Given the description of an element on the screen output the (x, y) to click on. 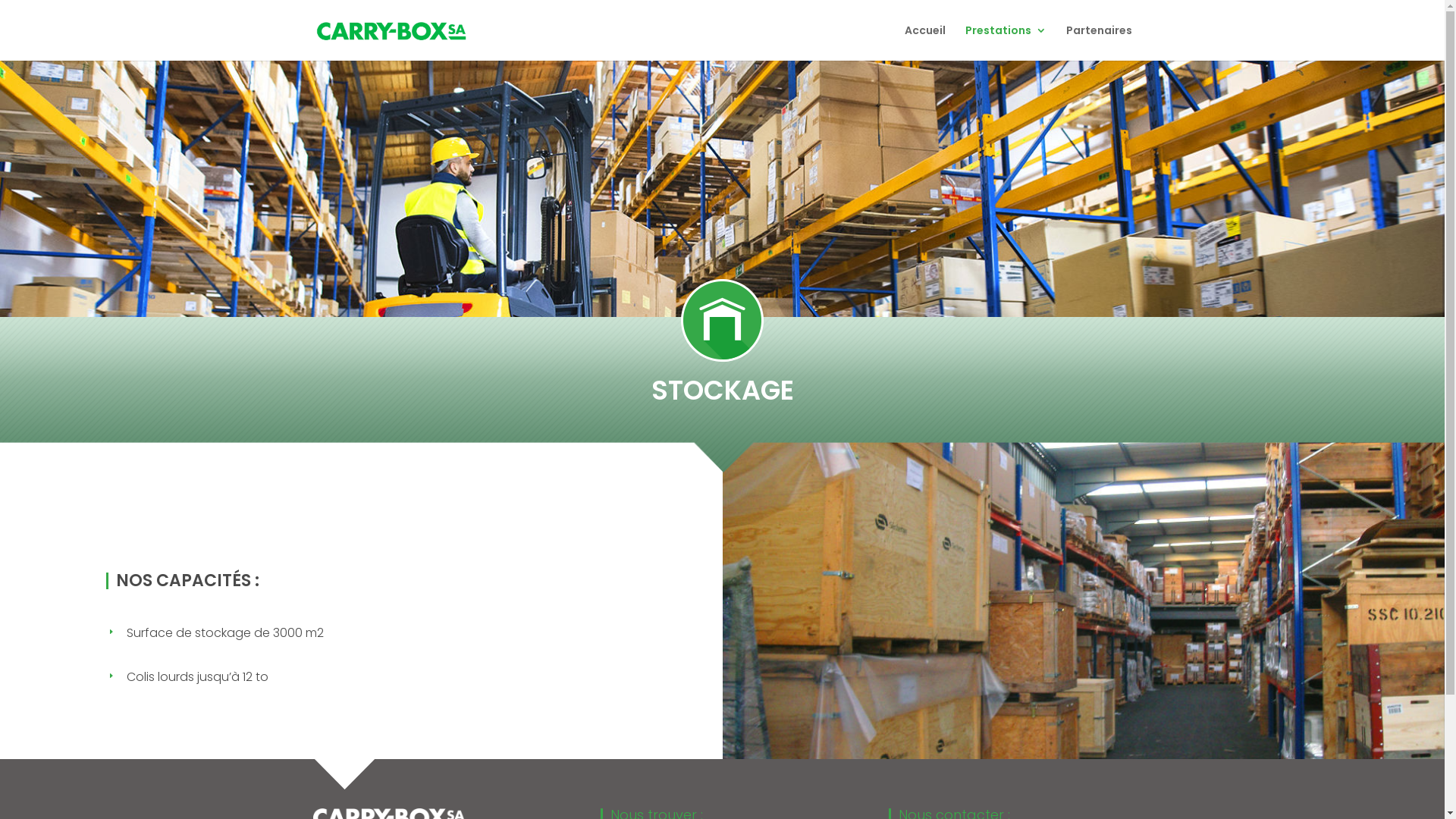
Accueil Element type: text (923, 42)
Partenaires Element type: text (1099, 42)
Prestations Element type: text (1004, 42)
